Given the description of an element on the screen output the (x, y) to click on. 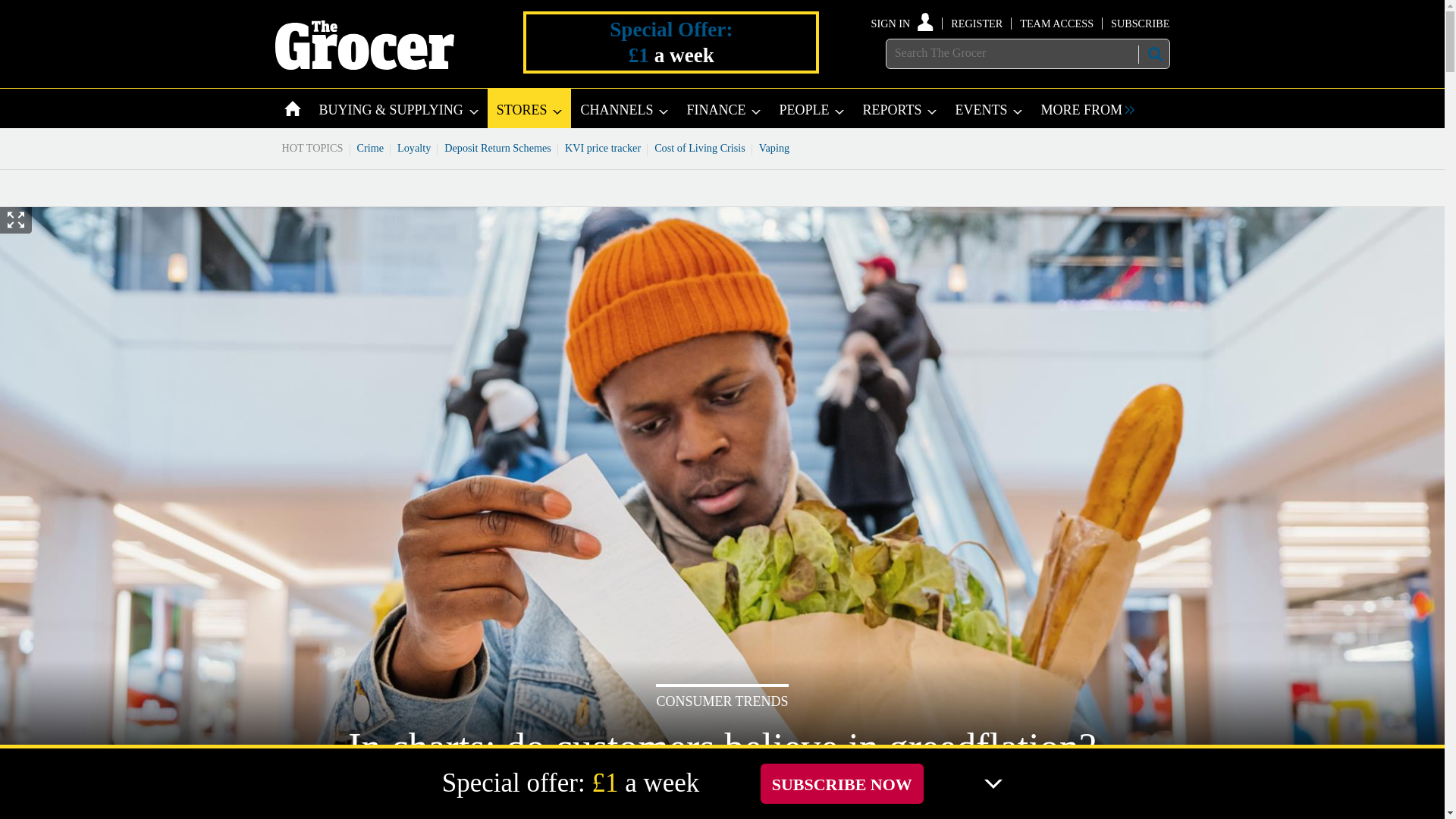
SUBSCRIBE (1139, 23)
Deposit Return Schemes (497, 147)
Loyalty (414, 147)
SUBSCRIBE NOW (841, 783)
Site name (363, 65)
REGISTER (976, 23)
SEARCH (1153, 53)
Crime (370, 147)
Cost of Living Crisis (699, 147)
TEAM ACCESS (1056, 23)
